Given the description of an element on the screen output the (x, y) to click on. 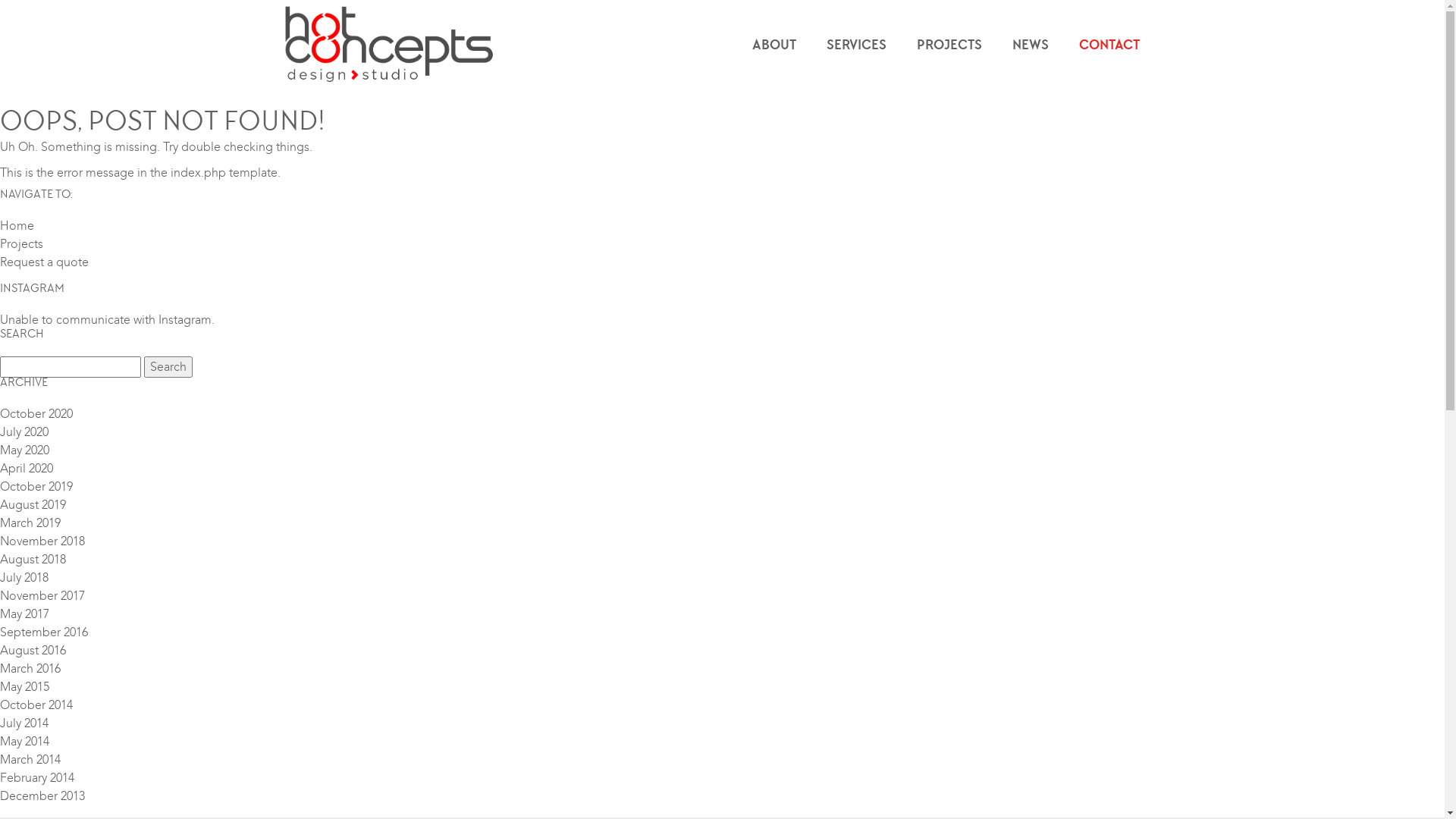
Request a quote Element type: text (44, 262)
Projects Element type: text (21, 243)
May 2014 Element type: text (24, 741)
July 2014 Element type: text (24, 723)
February 2014 Element type: text (37, 777)
November 2017 Element type: text (42, 595)
March 2019 Element type: text (30, 522)
September 2016 Element type: text (43, 632)
December 2013 Element type: text (42, 795)
August 2016 Element type: text (32, 650)
March 2014 Element type: text (30, 759)
CONTACT Element type: text (1108, 45)
November 2018 Element type: text (42, 541)
July 2018 Element type: text (24, 577)
October 2020 Element type: text (36, 413)
Home Element type: text (17, 225)
NEWS Element type: text (1029, 45)
August 2019 Element type: text (32, 504)
Hot Concepts Design Studio Element type: hover (390, 45)
Search Element type: text (168, 366)
May 2017 Element type: text (24, 613)
July 2020 Element type: text (24, 431)
May 2015 Element type: text (24, 686)
PROJECTS Element type: text (948, 45)
August 2018 Element type: text (32, 559)
ABOUT Element type: text (774, 45)
April 2020 Element type: text (26, 468)
May 2020 Element type: text (24, 450)
October 2019 Element type: text (36, 486)
March 2016 Element type: text (30, 668)
October 2014 Element type: text (36, 704)
SERVICES Element type: text (856, 45)
